Given the description of an element on the screen output the (x, y) to click on. 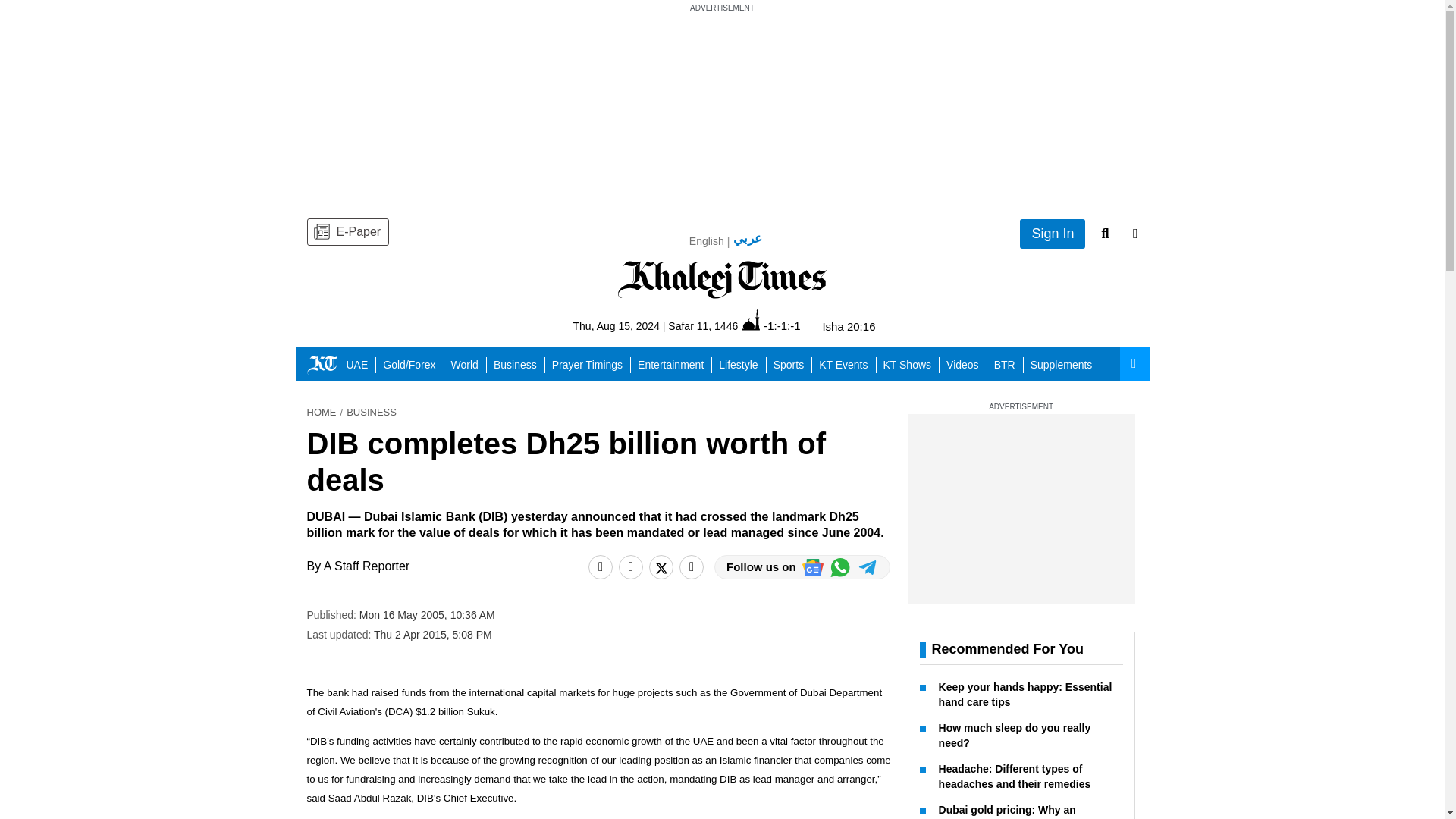
-1:-1:-1 (770, 324)
Sign In (1052, 233)
Isha 20:16 (848, 326)
E-Paper (346, 231)
